Given the description of an element on the screen output the (x, y) to click on. 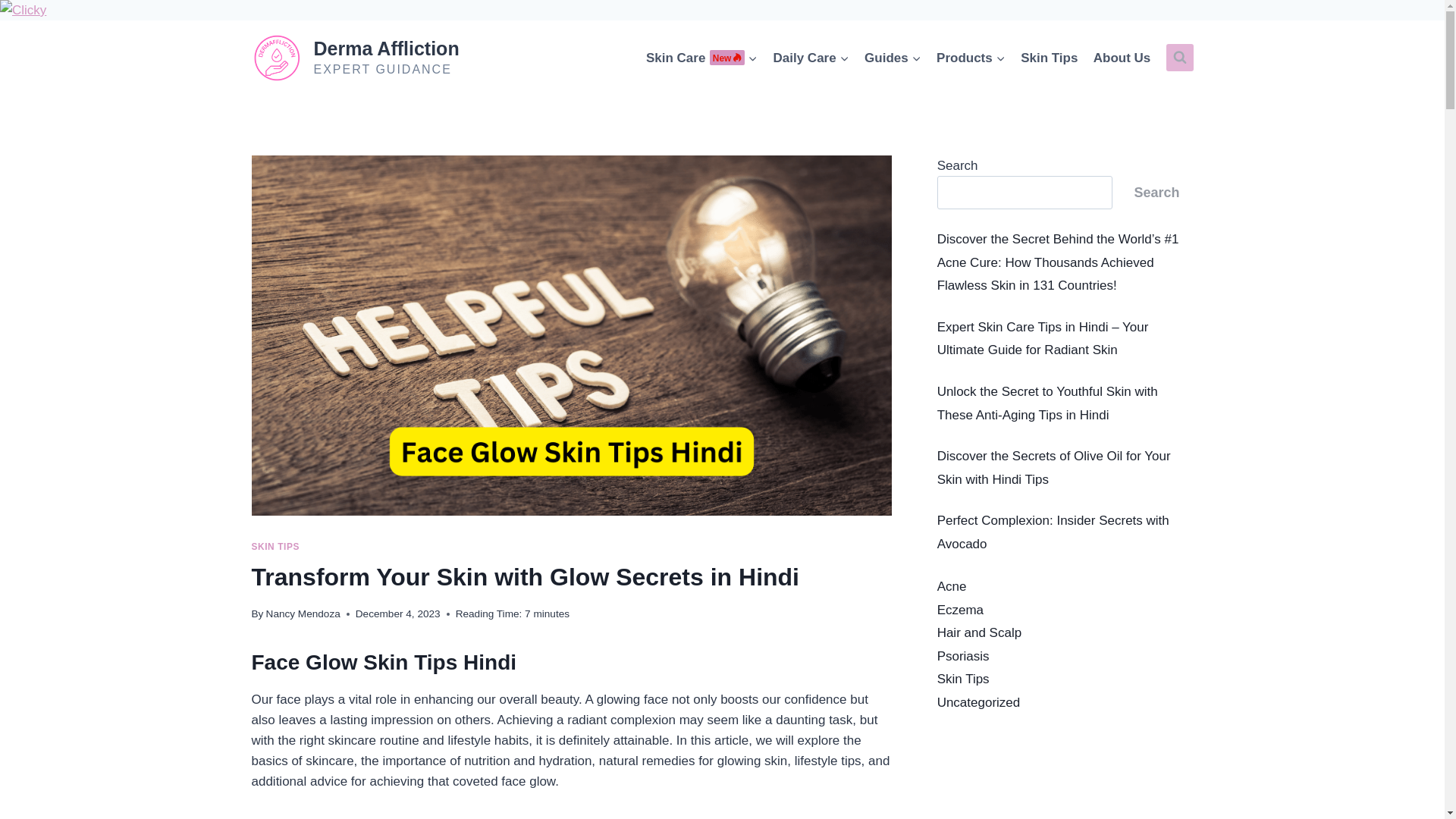
About Us (1122, 57)
Products (702, 57)
Daily Care (970, 57)
Skin Tips (811, 57)
Nancy Mendoza (1049, 57)
SKIN TIPS (303, 613)
Guides (275, 546)
